Given the description of an element on the screen output the (x, y) to click on. 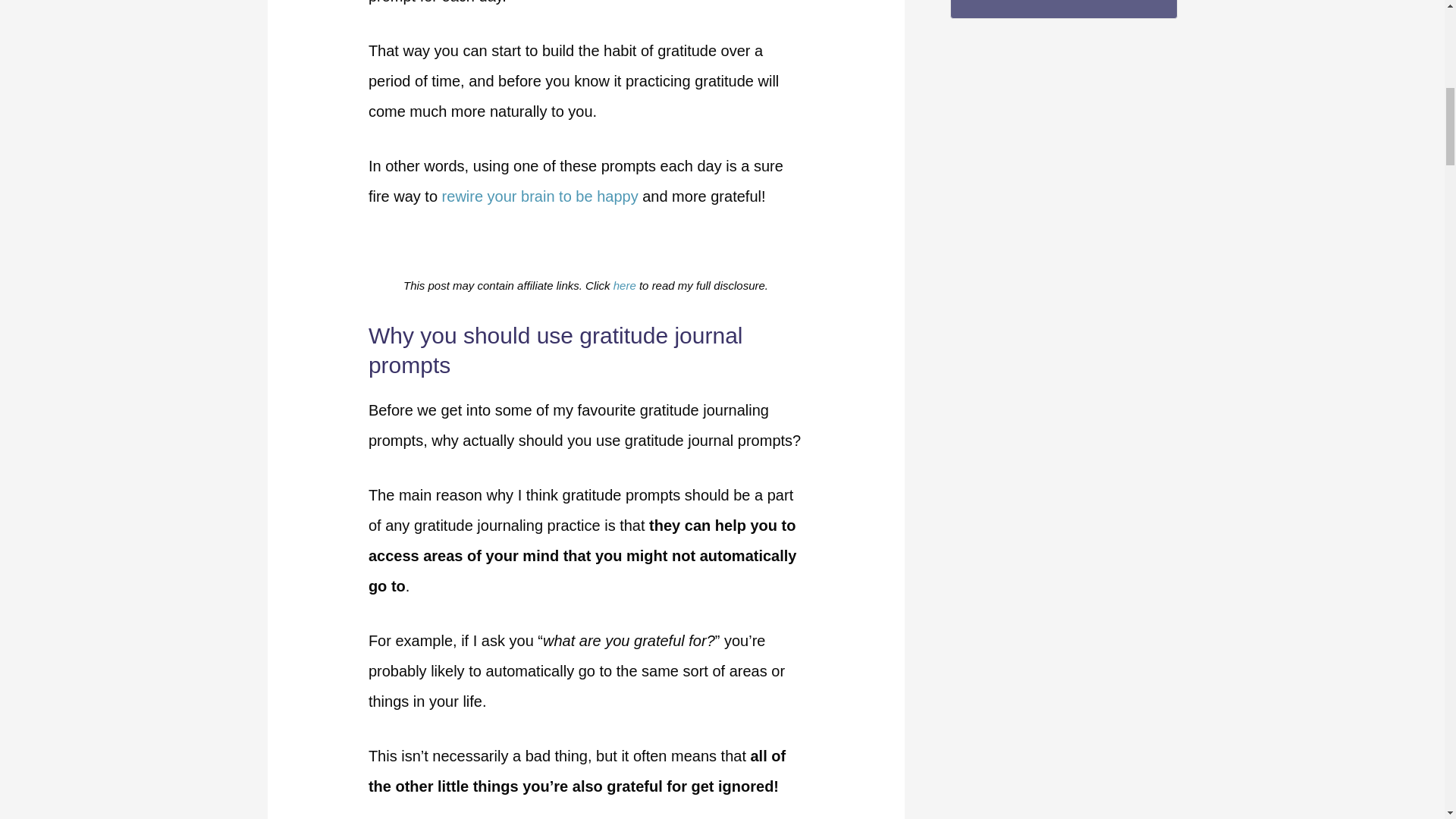
rewire your brain to be happy (540, 196)
